Given the description of an element on the screen output the (x, y) to click on. 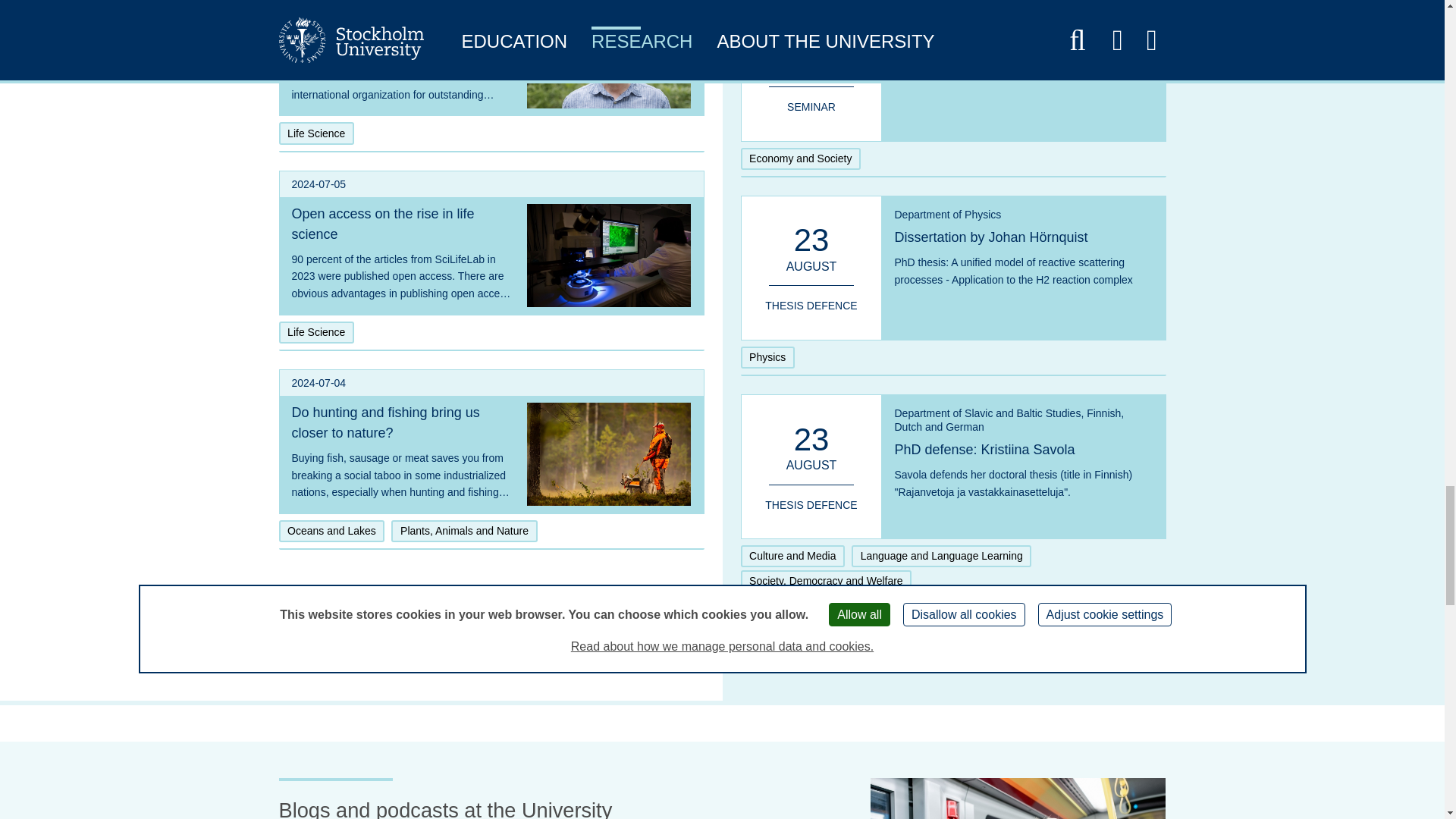
Read the full article (402, 422)
Show more news articles (491, 600)
Photo: Jens Olof Lasthein (609, 255)
Read the full article (402, 24)
Read the full article (402, 223)
Mats Nilsson. Photo: Jens Lasthein, (609, 56)
